Given the description of an element on the screen output the (x, y) to click on. 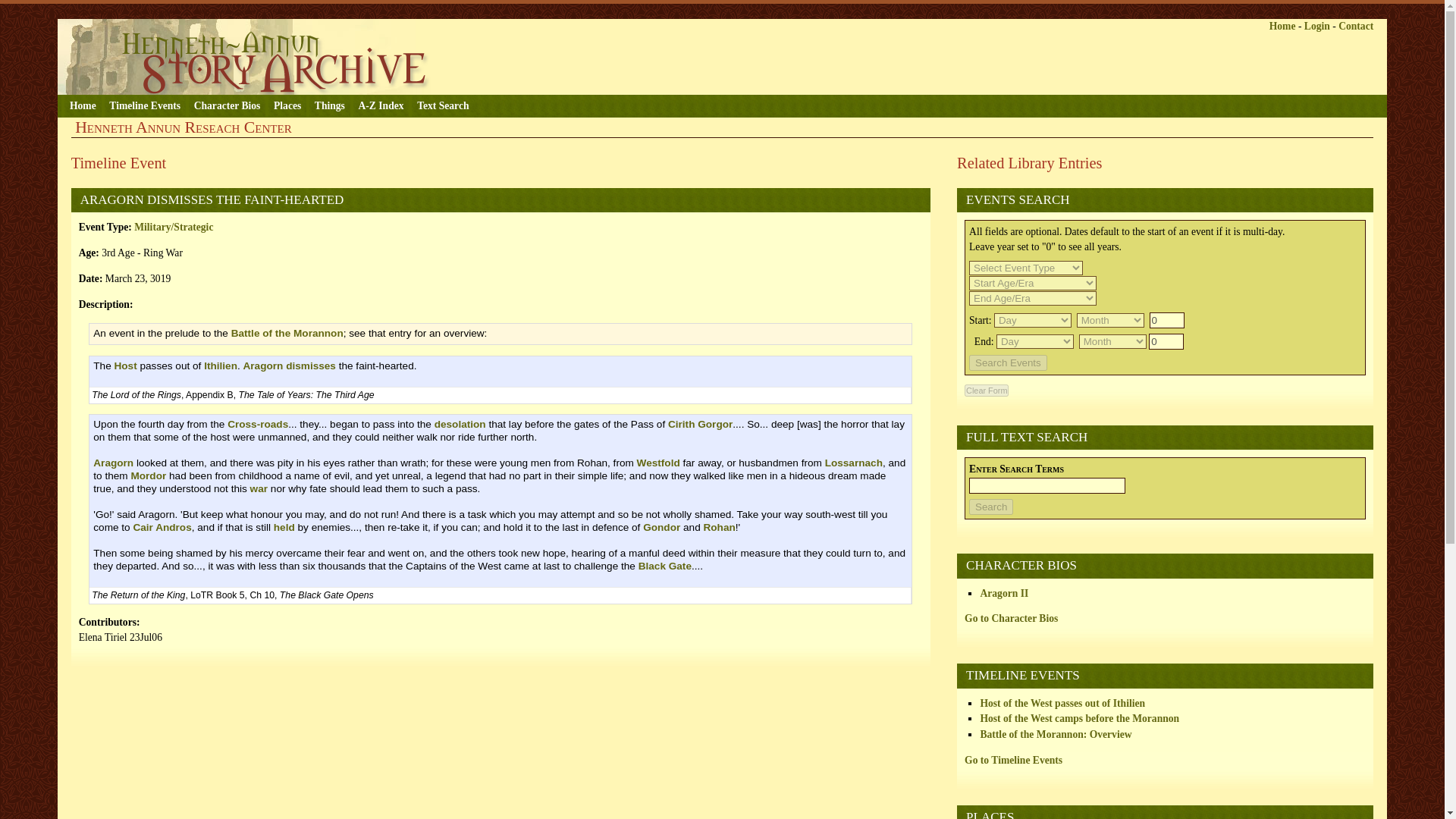
Clear Form (986, 390)
Required (1016, 469)
0 (1167, 320)
Host (124, 365)
Go to Character Bios (1010, 618)
Skip to page content (90, 11)
Rohan (719, 527)
dismisses (310, 365)
Ithilien (220, 365)
0 (1165, 341)
Black Gate (665, 565)
Click to return to HARC home page (247, 56)
Search Events (1007, 362)
Skip to bottom of page (295, 11)
Battle of the Morannon (287, 333)
